Given the description of an element on the screen output the (x, y) to click on. 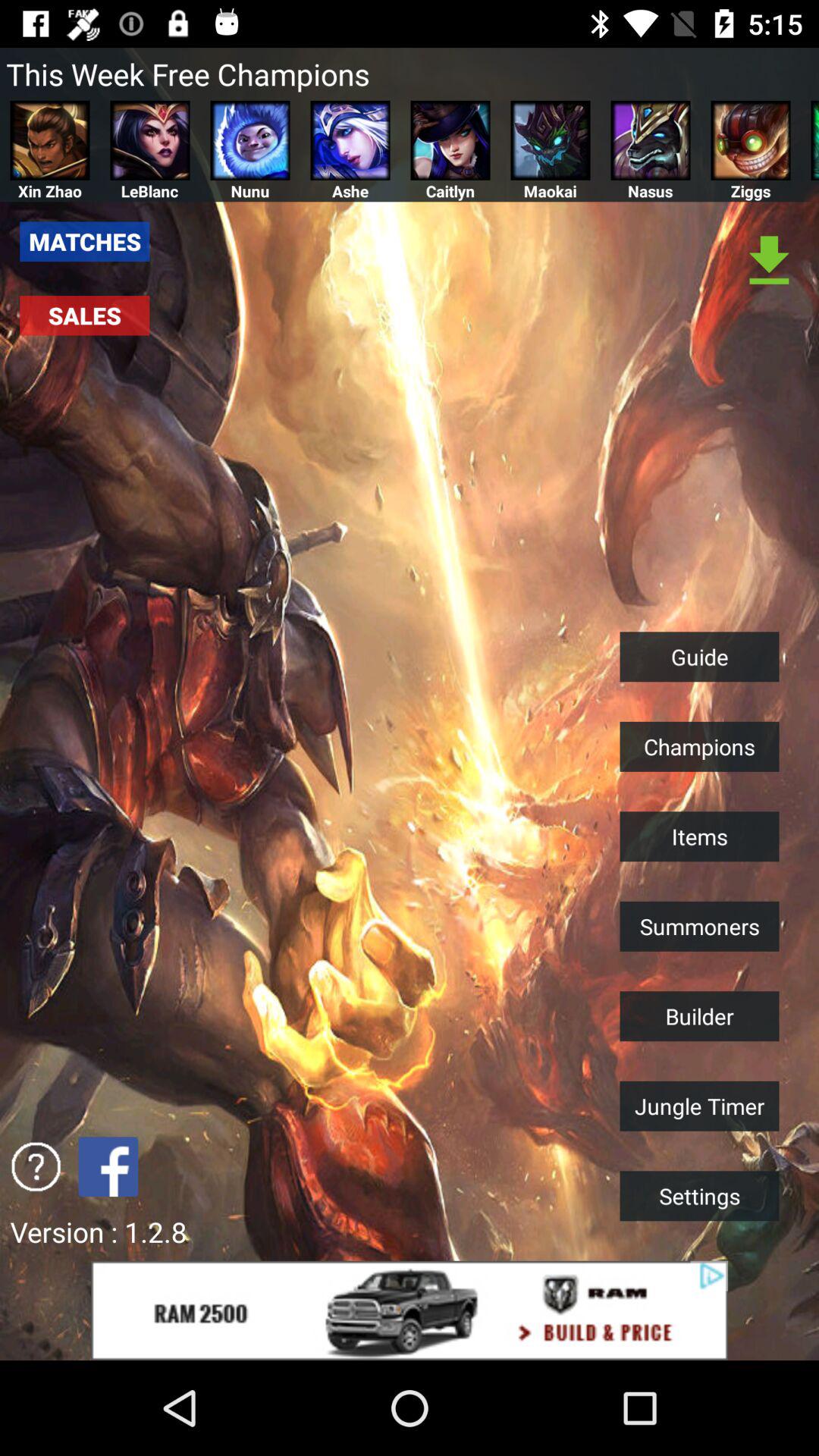
car advertisement (409, 1310)
